Given the description of an element on the screen output the (x, y) to click on. 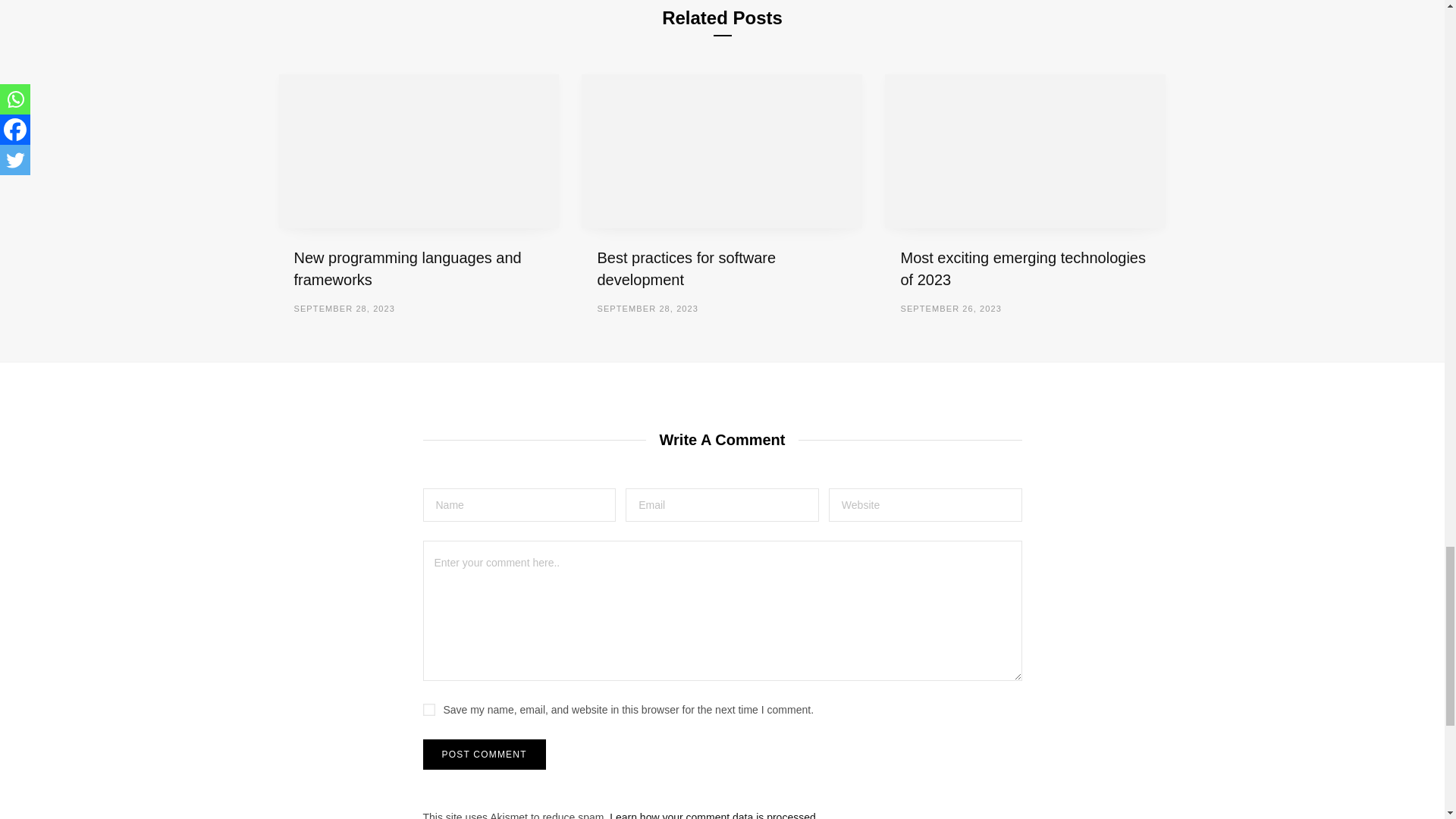
Post Comment (484, 754)
New programming languages and frameworks (419, 151)
yes (429, 709)
